Given the description of an element on the screen output the (x, y) to click on. 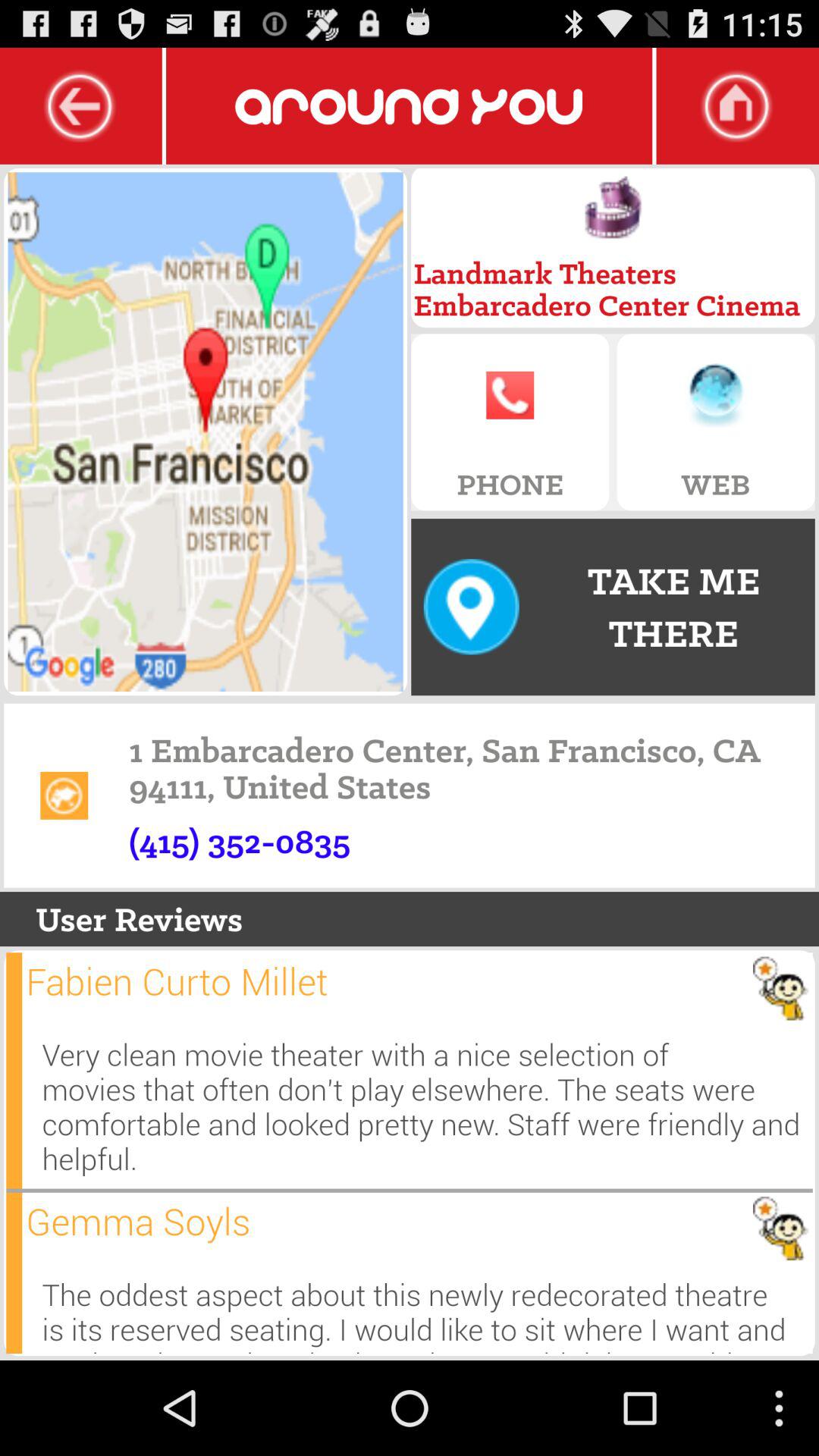
scroll to the oddest aspect app (427, 1308)
